Given the description of an element on the screen output the (x, y) to click on. 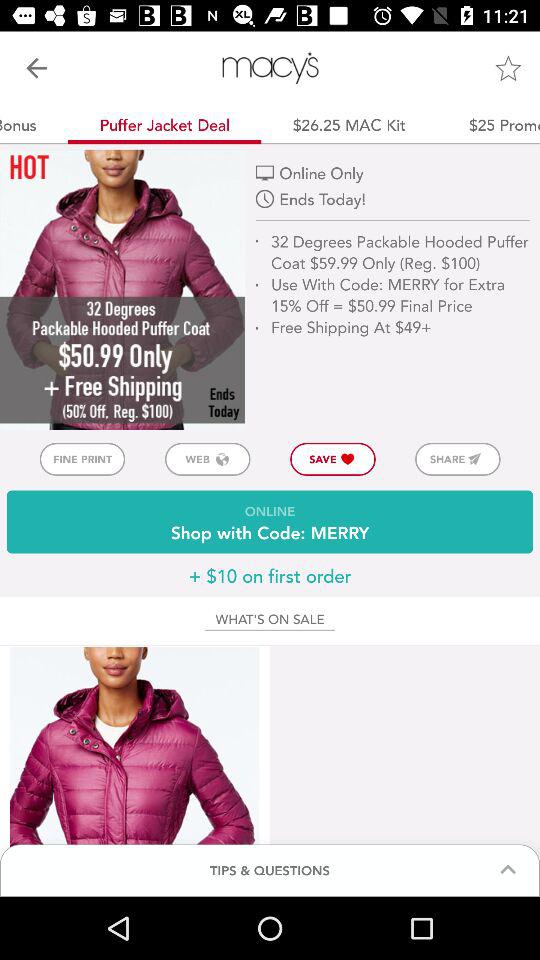
open item to the left of the web item (82, 458)
